Given the description of an element on the screen output the (x, y) to click on. 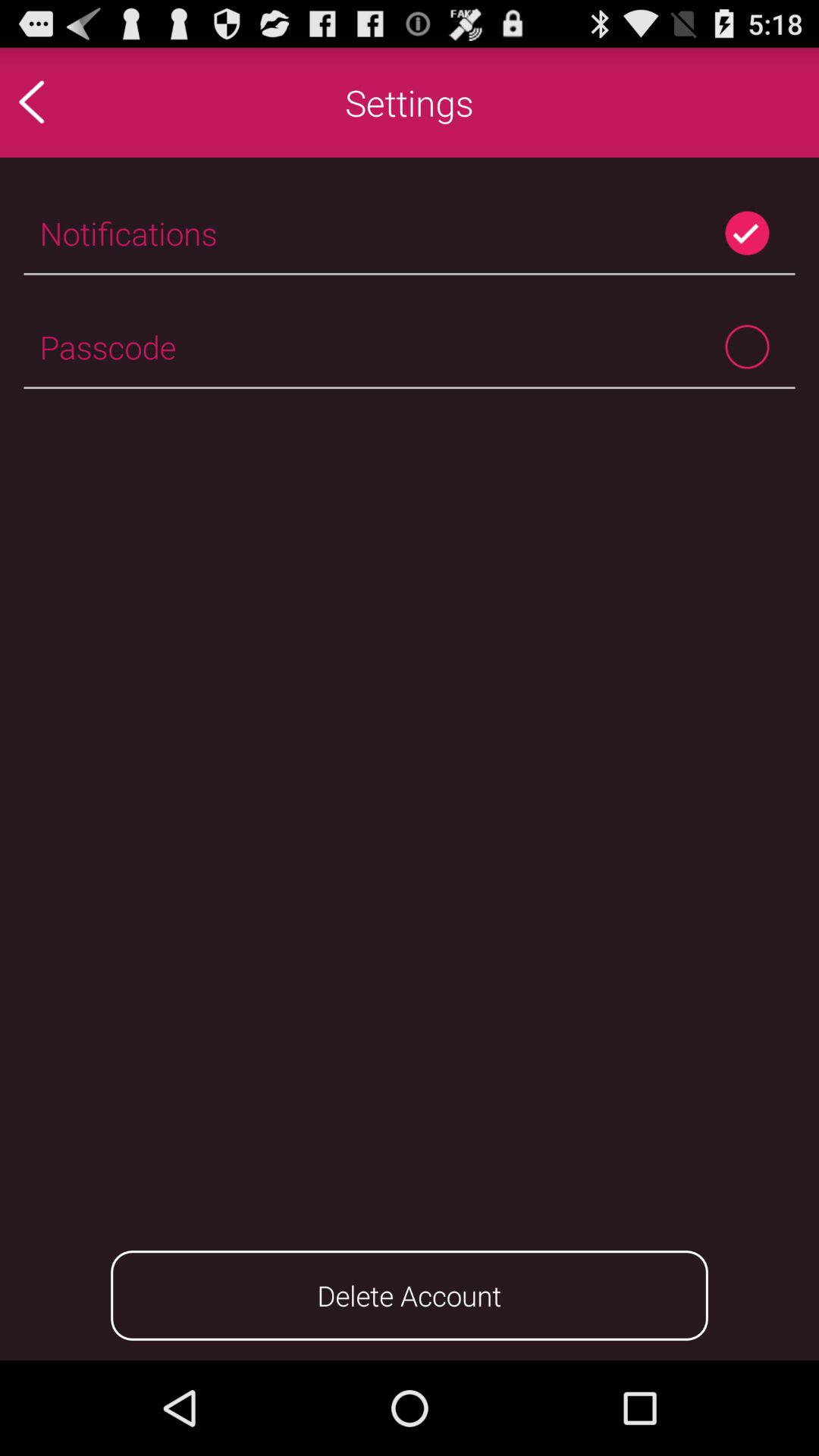
enable passcode (747, 346)
